Given the description of an element on the screen output the (x, y) to click on. 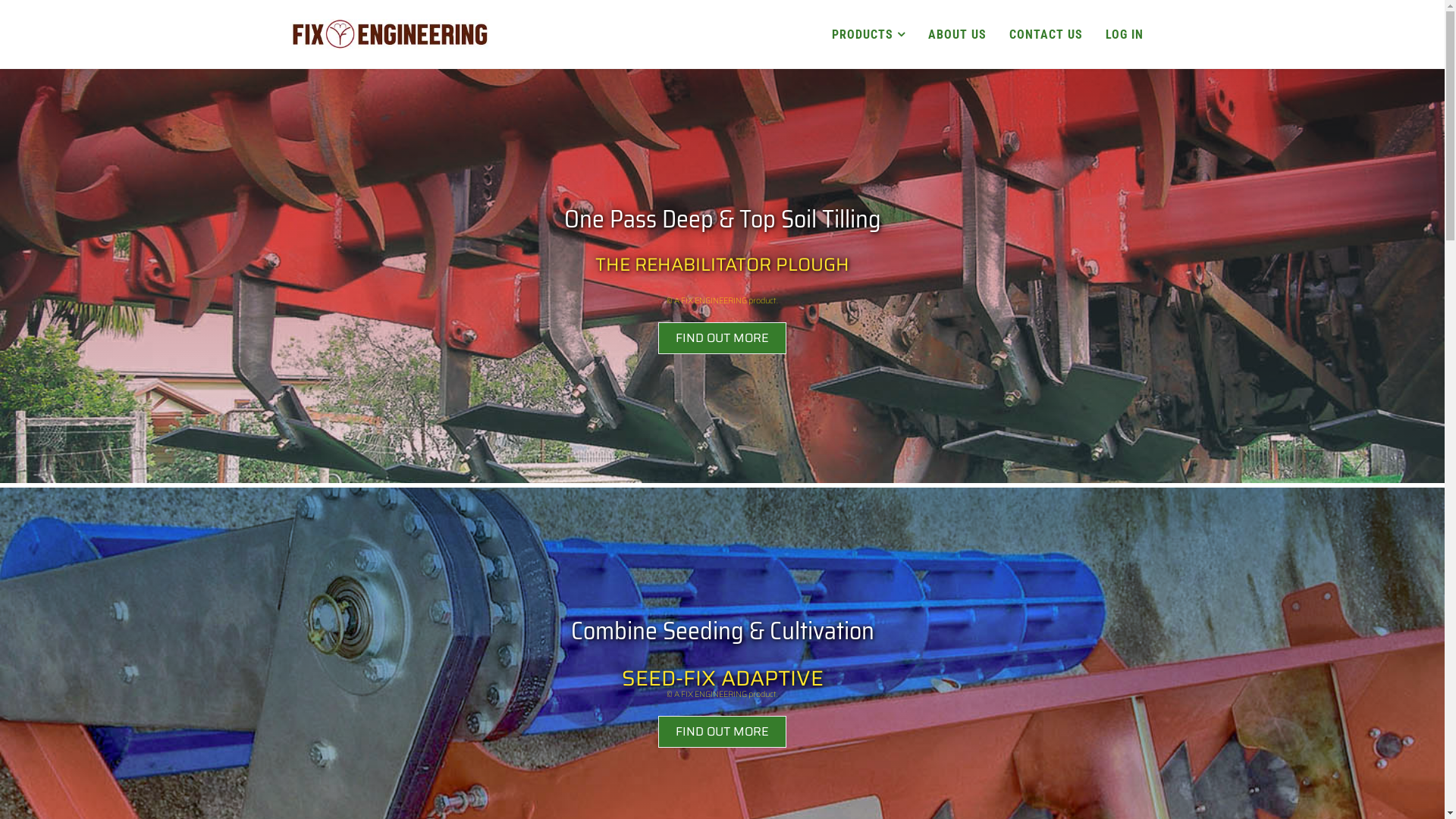
CONTACT US Element type: text (1045, 34)
ABOUT US Element type: text (956, 34)
FIND OUT MORE Element type: text (722, 338)
PRODUCTS Element type: text (868, 34)
LOG IN Element type: text (1123, 34)
FIND OUT MORE Element type: text (722, 731)
